Given the description of an element on the screen output the (x, y) to click on. 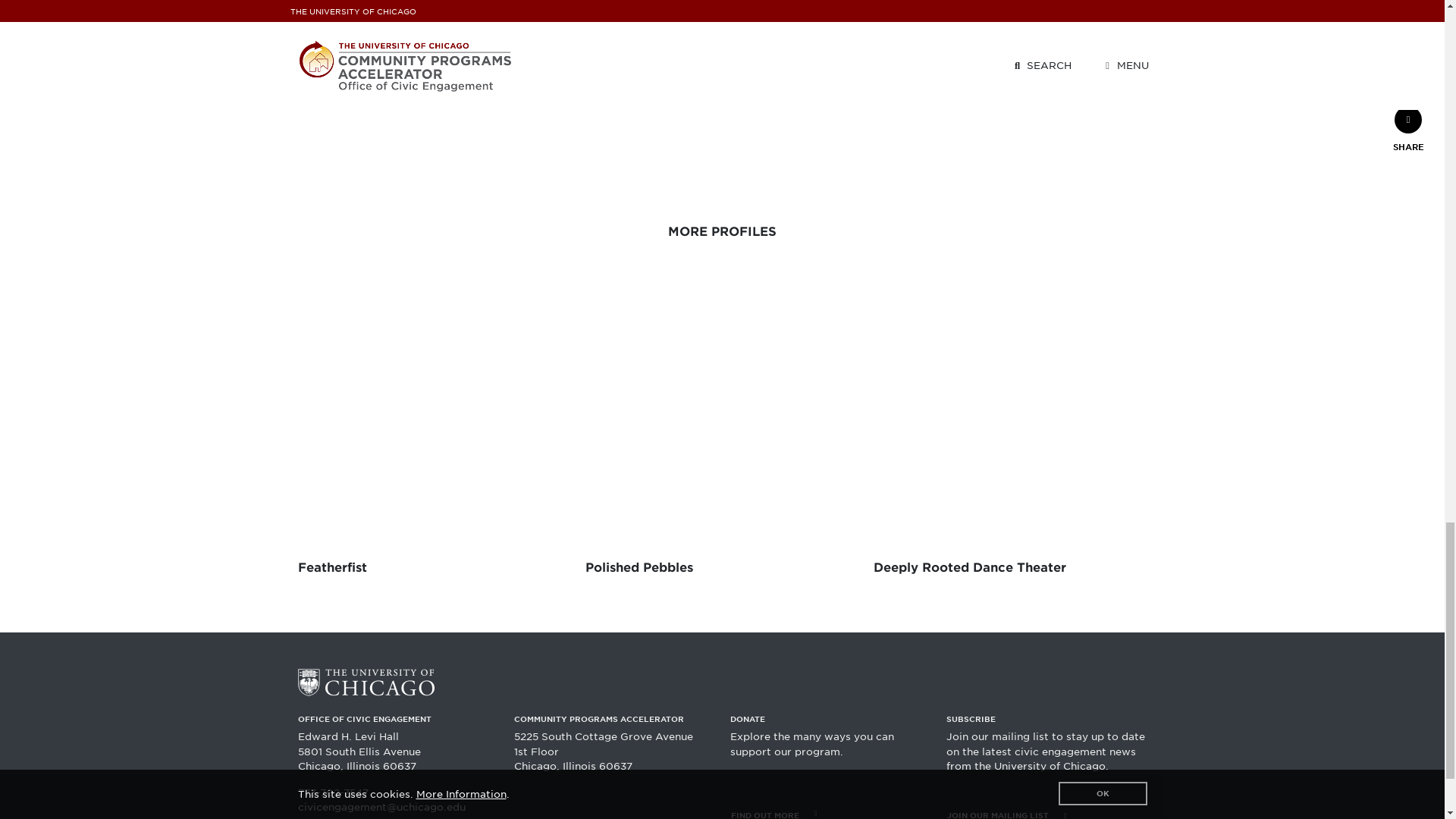
FIND OUT MORE (829, 811)
Polished Pebbles (722, 435)
Deeply Rooted Dance Theater (1010, 435)
Featherfist (433, 435)
JOIN OUR MAILING LIST (1046, 811)
Back to Profiles (333, 66)
